Given the description of an element on the screen output the (x, y) to click on. 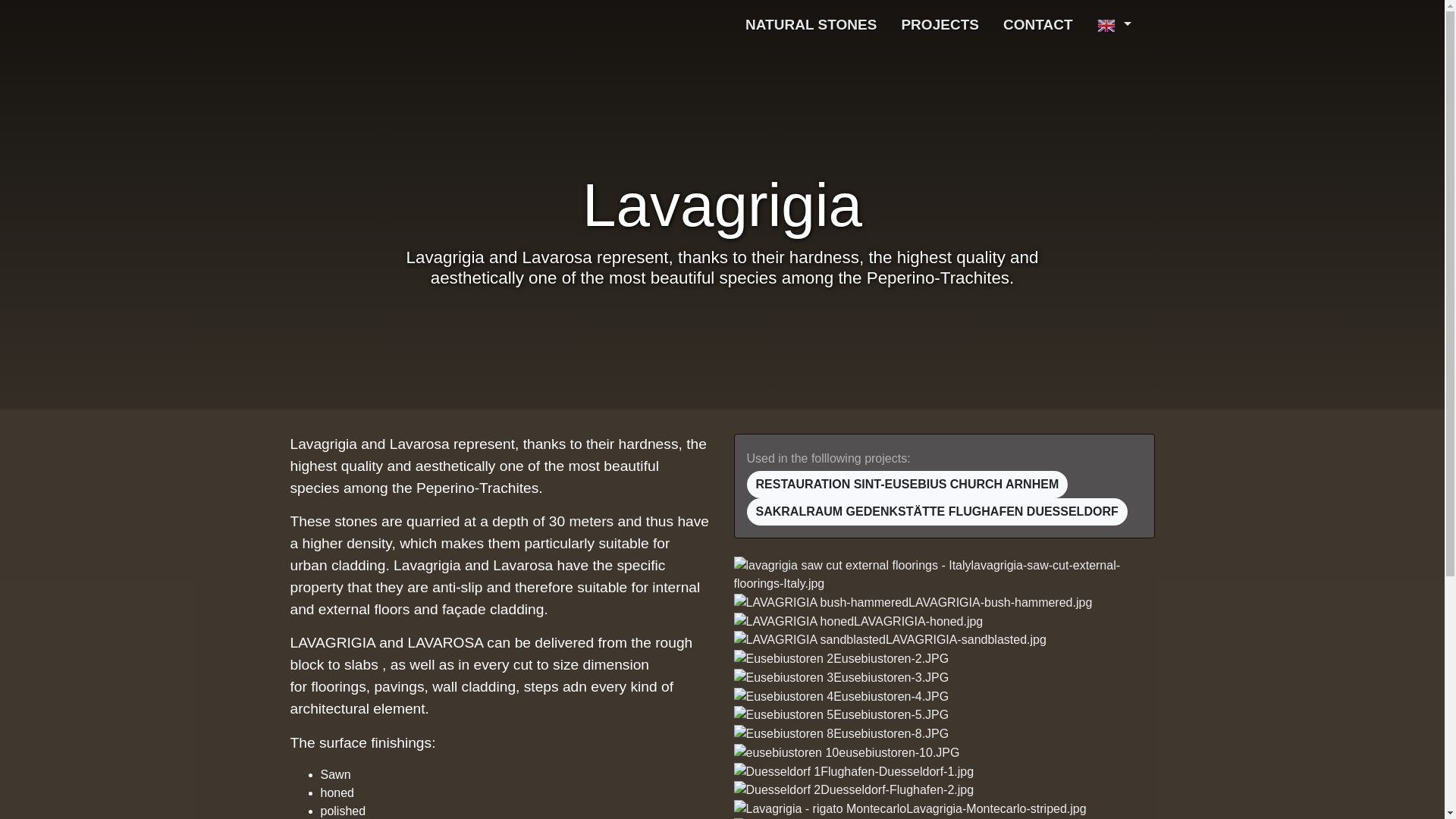
Schmidt Exclusive Natural Stone (450, 25)
CONTACT (1037, 25)
LAVAGRIGIA honed (858, 621)
CONTACT (1037, 25)
LAVAGRIGIA sandblasted (889, 639)
NATURAL STONES (810, 25)
PROJECTS (939, 25)
RESTAURATION SINT-EUSEBIUS CHURCH ARNHEM (906, 483)
